Given the description of an element on the screen output the (x, y) to click on. 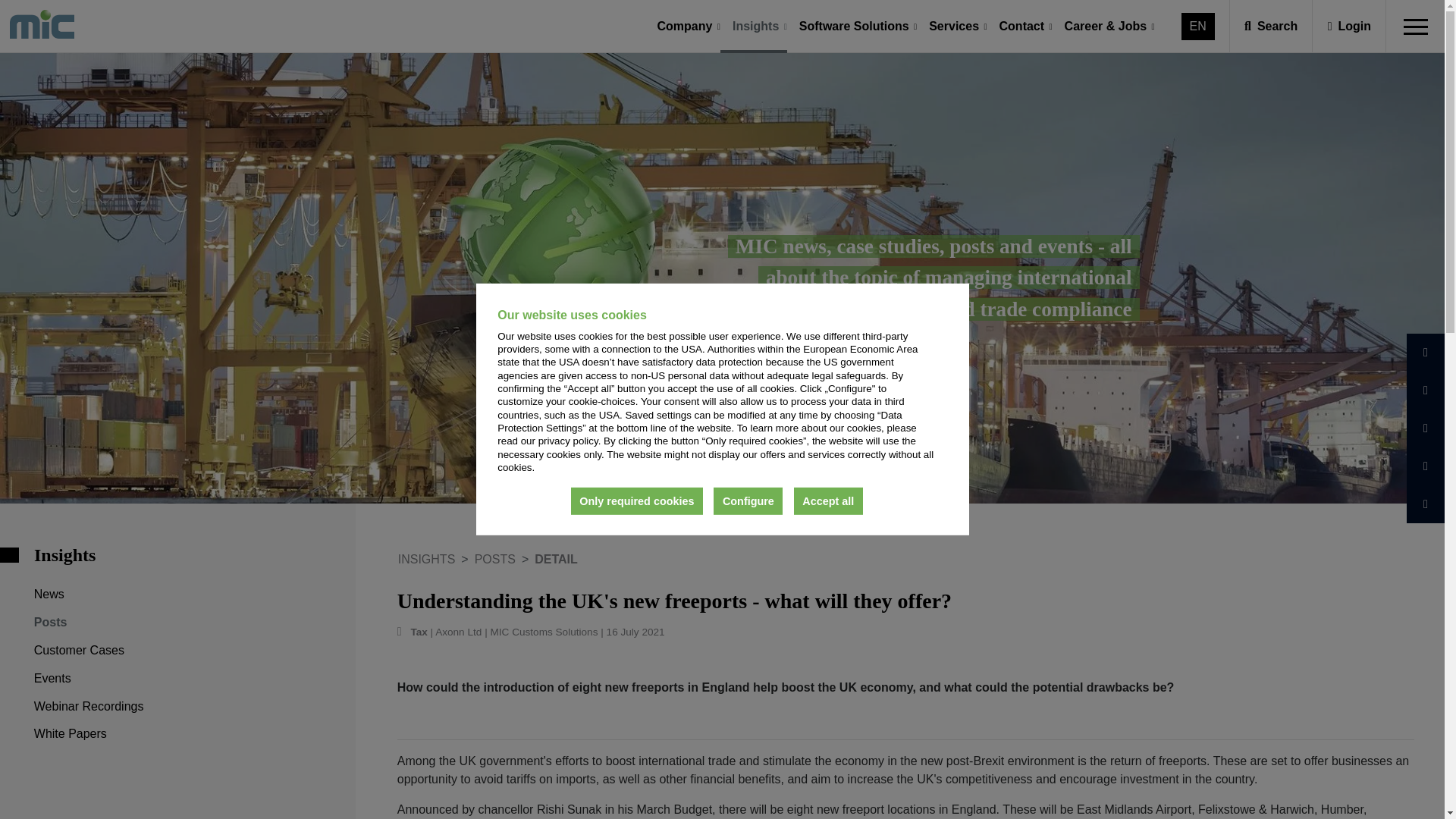
EN (1198, 26)
Only required cookies (636, 501)
Insights (755, 26)
Services (954, 26)
Accept all (828, 501)
Contact (1022, 26)
Login (1349, 26)
Company (685, 26)
Software Solutions (854, 26)
Configure (748, 501)
